Given the description of an element on the screen output the (x, y) to click on. 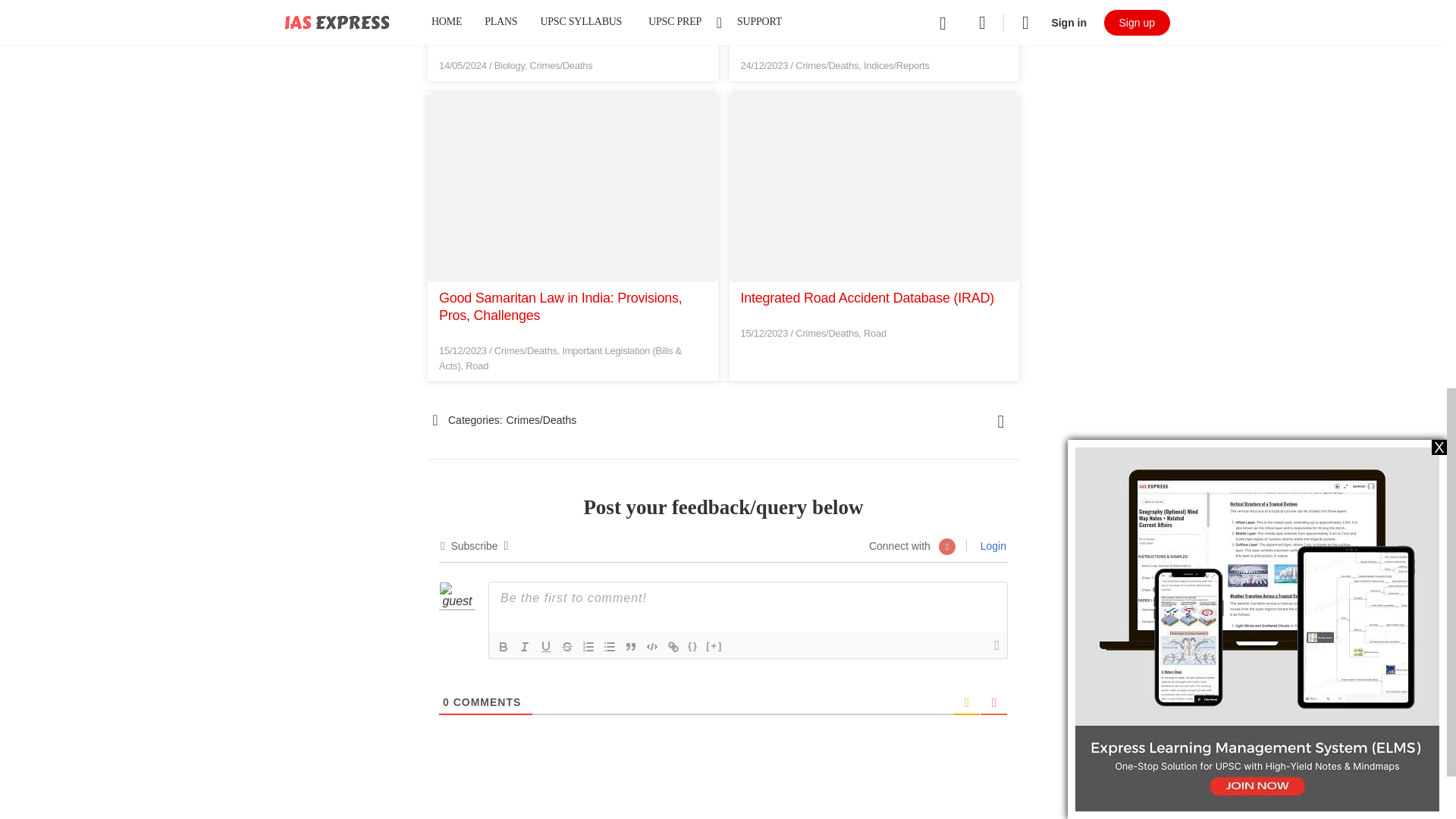
Bold (503, 647)
Road (874, 333)
Road (476, 365)
Underline (545, 647)
Biology (509, 65)
Italic (524, 647)
